Given the description of an element on the screen output the (x, y) to click on. 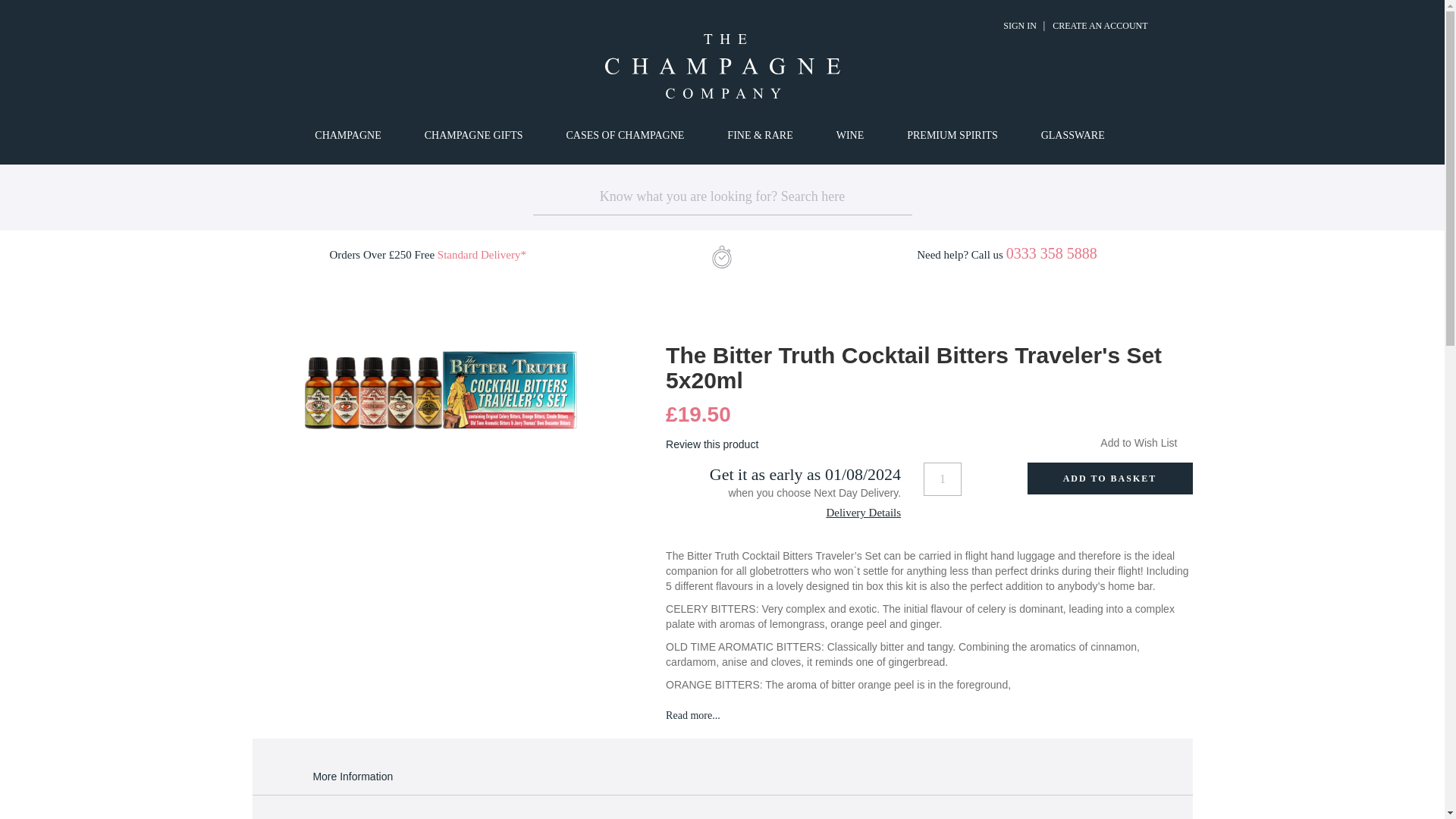
My Basket (1176, 22)
1 (941, 479)
Qty (941, 479)
The Champagne Company (722, 66)
Add to Basket (1109, 478)
SIGN IN (1019, 25)
The Champagne Company (721, 66)
CHAMPAGNE (350, 135)
CREATE AN ACCOUNT (1099, 25)
